Given the description of an element on the screen output the (x, y) to click on. 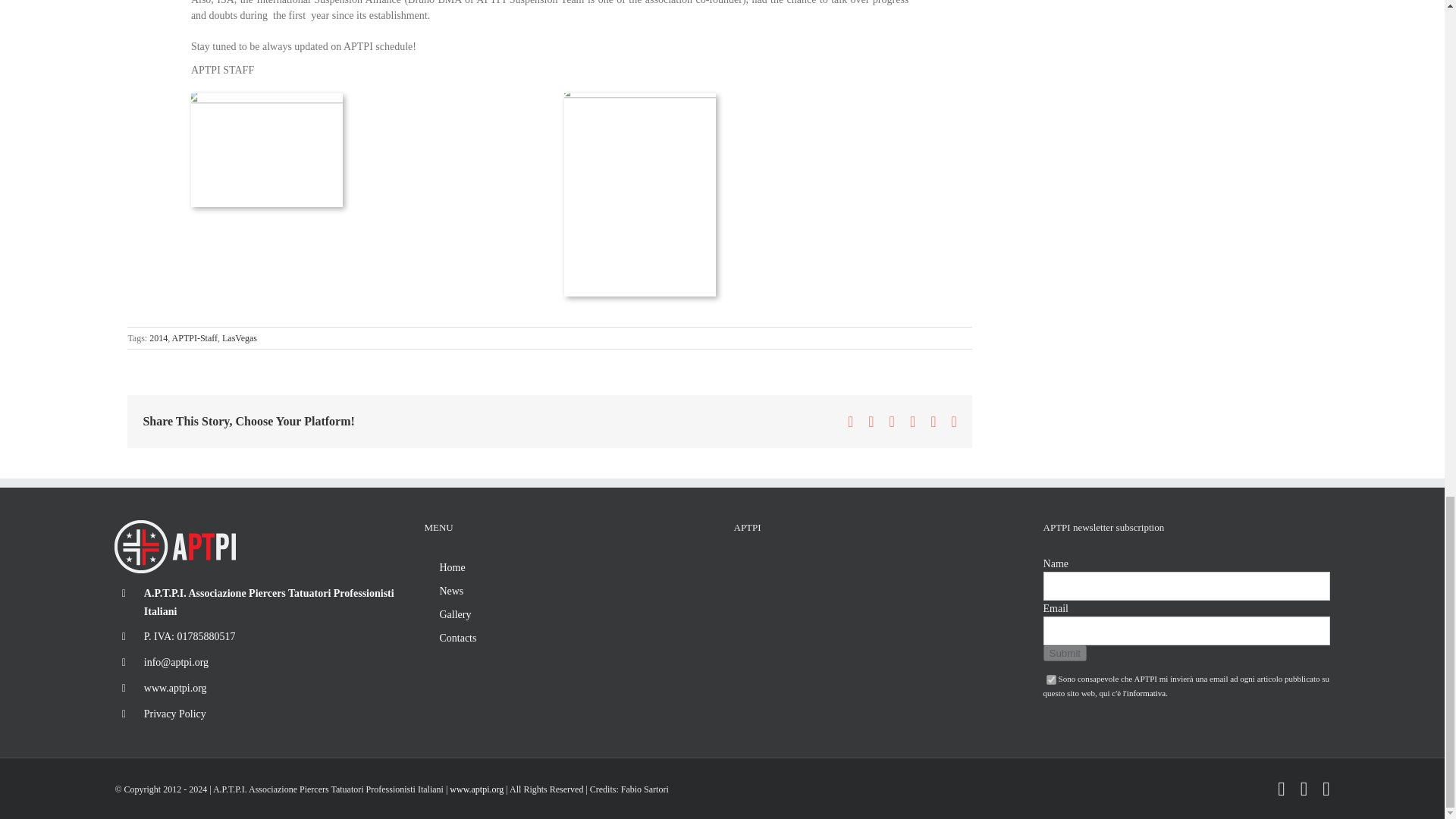
APTPI-Staff (193, 337)
html (1051, 679)
Las Vegas 2014 A (266, 98)
LasVegas (239, 337)
2014 (158, 337)
